Given the description of an element on the screen output the (x, y) to click on. 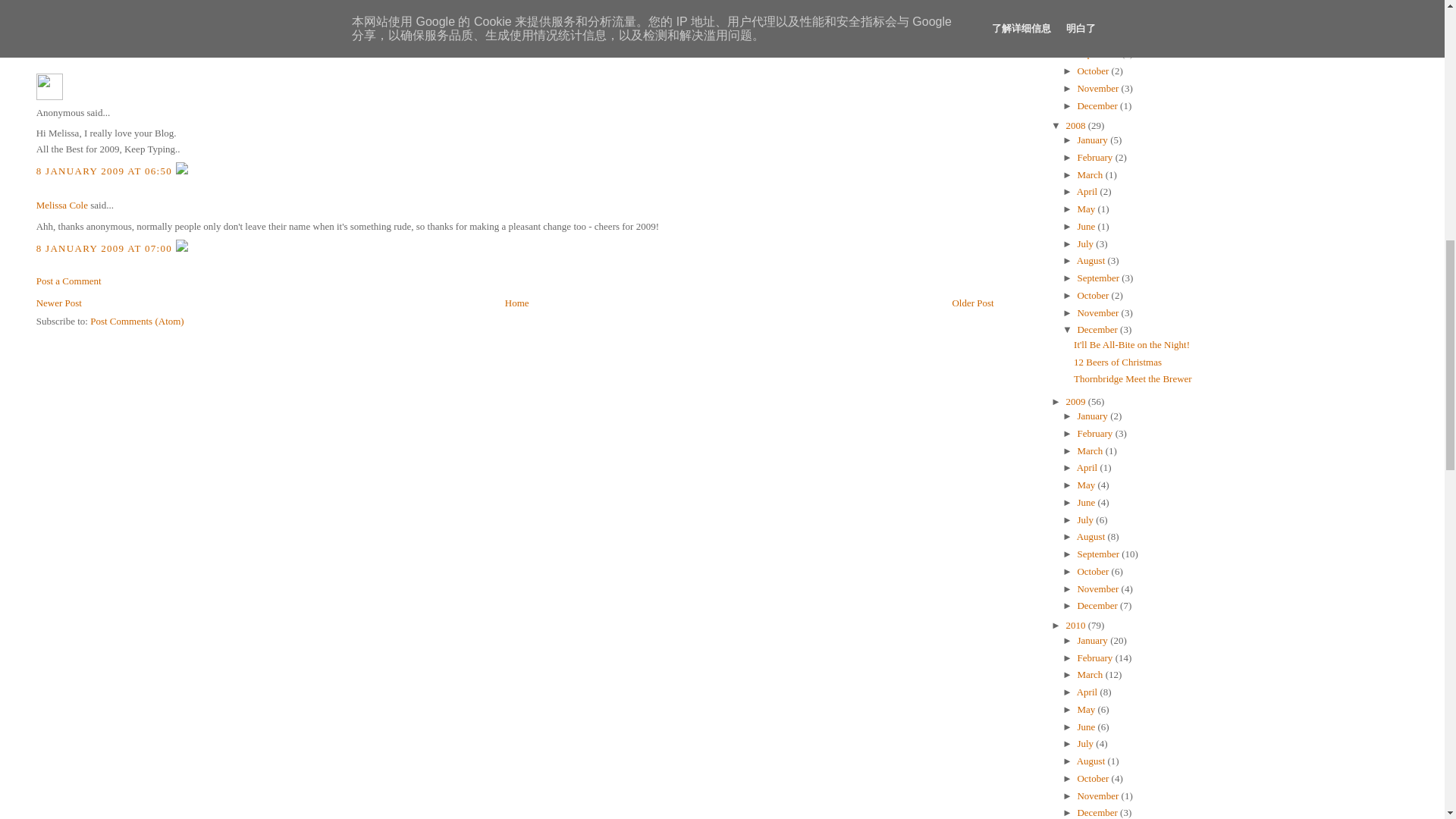
7 JANUARY 2009 AT 00:55 (106, 46)
8 JANUARY 2009 AT 06:50 (106, 170)
Ale Louse (56, 4)
